Given the description of an element on the screen output the (x, y) to click on. 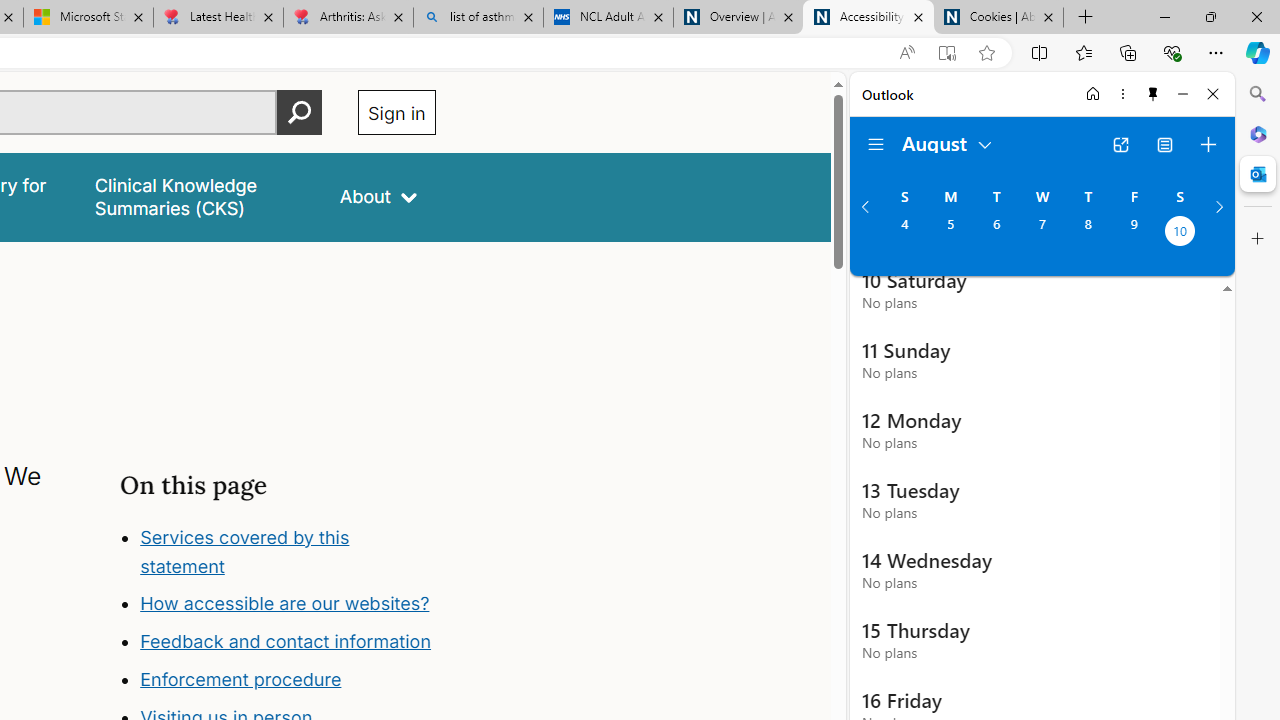
Enforcement procedure (240, 679)
Feedback and contact information (285, 641)
Accessibility | NICE (868, 17)
NCL Adult Asthma Inhaler Choice Guideline (608, 17)
Enforcement procedure (287, 680)
View Switcher. Current view is Agenda view (1165, 144)
Open in new tab (1120, 144)
Saturday, August 10, 2024. Date selected.  (1180, 233)
false (198, 196)
Create event (1208, 144)
